Given the description of an element on the screen output the (x, y) to click on. 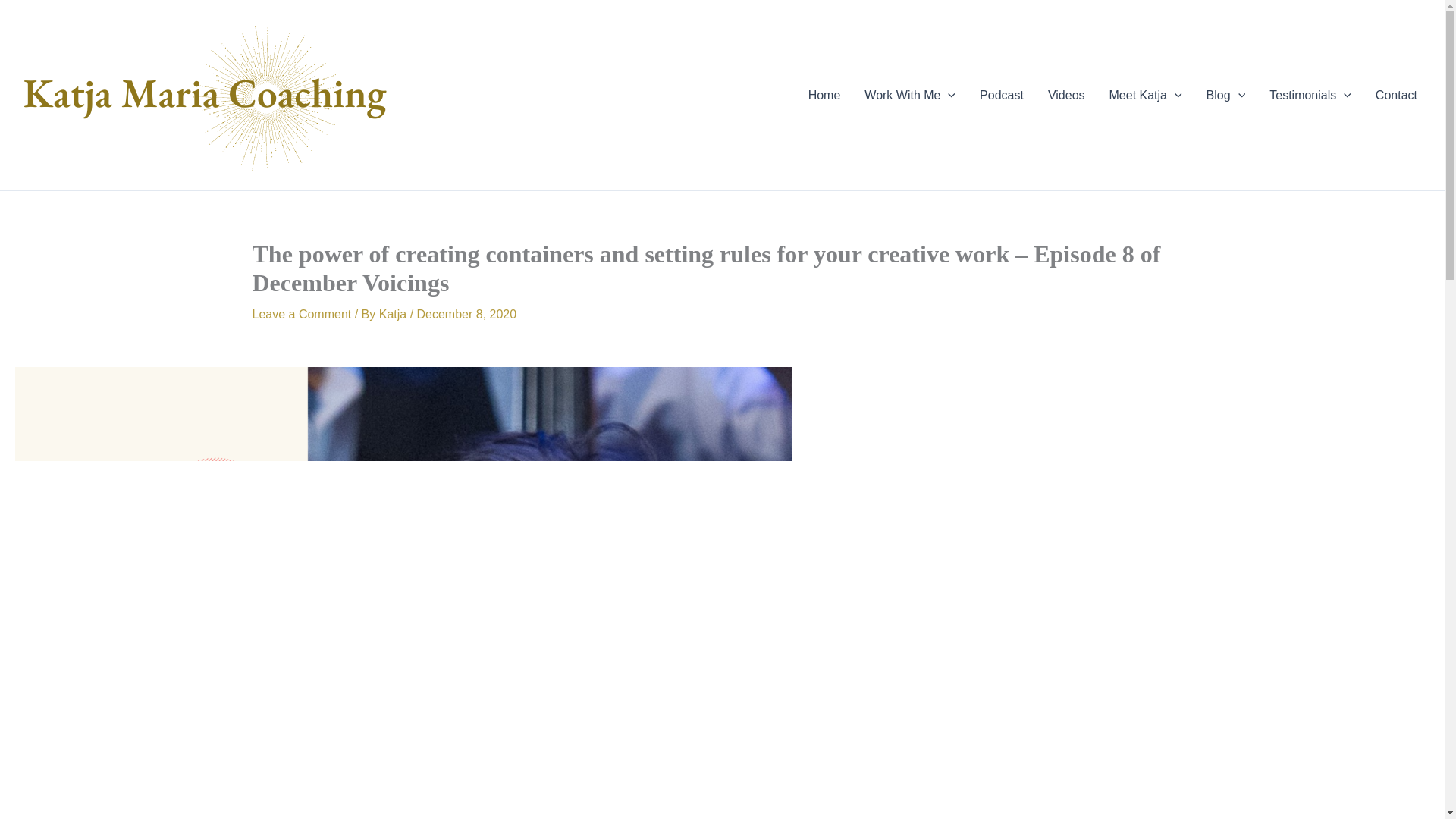
Videos (1066, 95)
Meet Katja (1145, 95)
View all posts by Katja (394, 314)
Work With Me (909, 95)
Blog (1225, 95)
Testimonials (1309, 95)
Contact (1395, 95)
Home (824, 95)
Podcast (1001, 95)
